Given the description of an element on the screen output the (x, y) to click on. 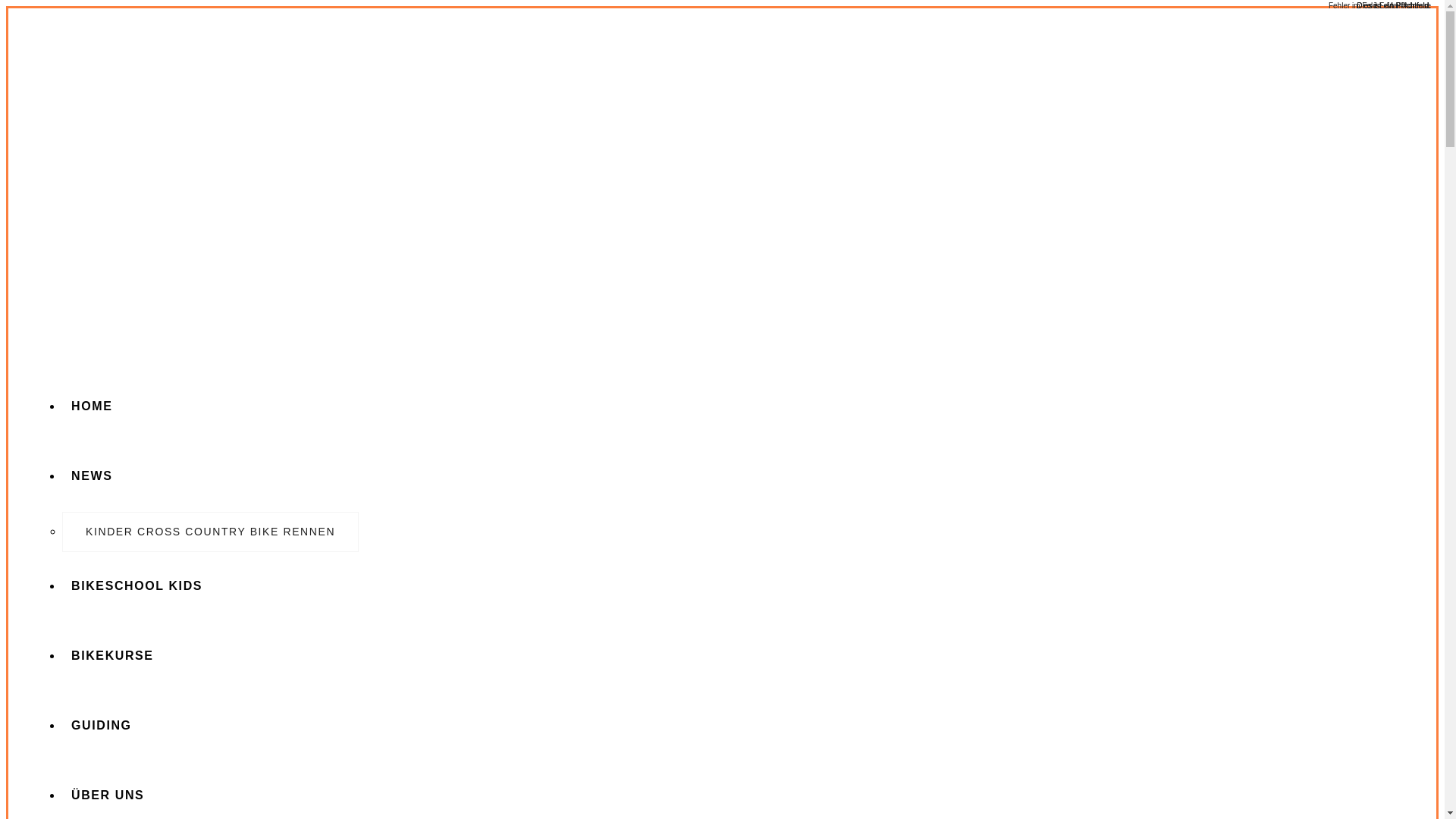
GUIDING Element type: text (210, 726)
NEWS Element type: text (210, 476)
HOME Element type: text (210, 407)
KINDER CROSS COUNTRY BIKE RENNEN Element type: text (209, 531)
BIKEKURSE Element type: text (210, 656)
BIKESCHOOL KIDS Element type: text (210, 586)
